Given the description of an element on the screen output the (x, y) to click on. 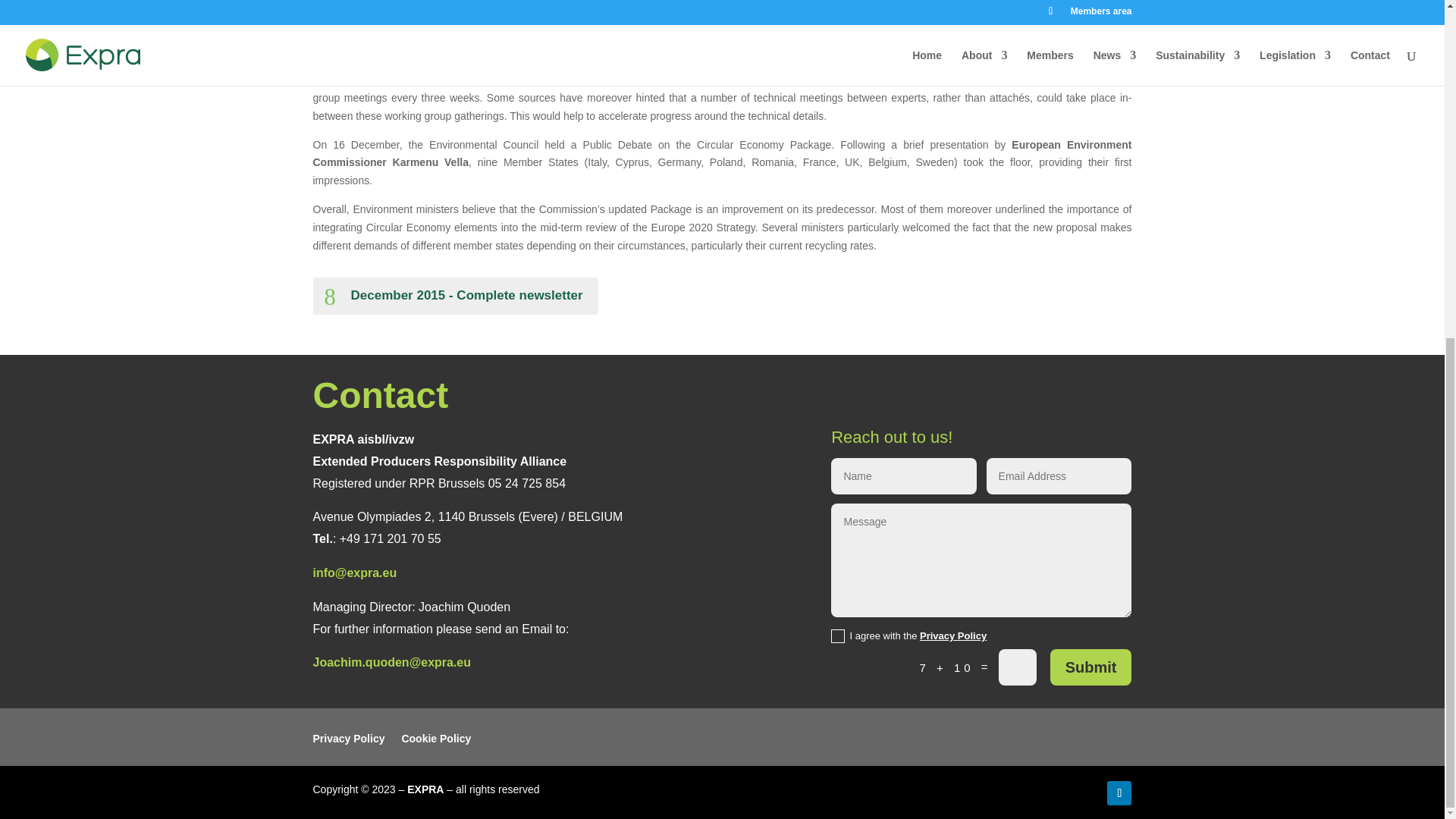
EXTENDED PRODUCER RESPONSIBILITY ALLIANCE (425, 788)
Follow on LinkedIn (1118, 793)
